Given the description of an element on the screen output the (x, y) to click on. 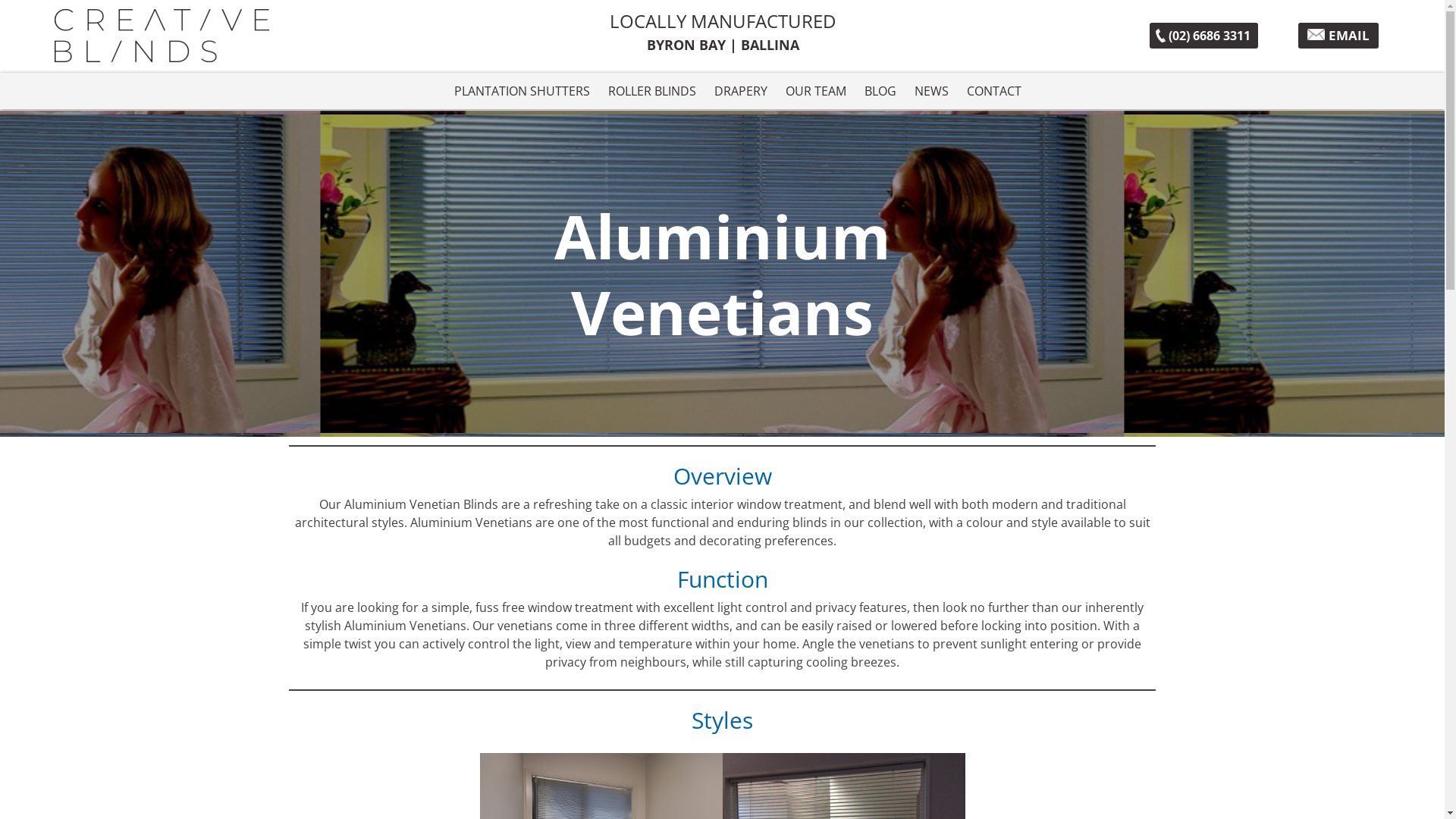
ROLLER BLINDS Element type: text (652, 90)
DRAPERY Element type: text (740, 90)
PLANTATION SHUTTERS Element type: text (521, 90)
Creative Blinds Byron Bay | Ballina Element type: hover (267, 35)
(02) 6686 3311 Element type: text (1203, 35)
OUR TEAM Element type: text (815, 90)
EMAIL Element type: text (1338, 34)
NEWS Element type: text (931, 90)
CONTACT Element type: text (993, 90)
BLOG Element type: text (880, 90)
